Given the description of an element on the screen output the (x, y) to click on. 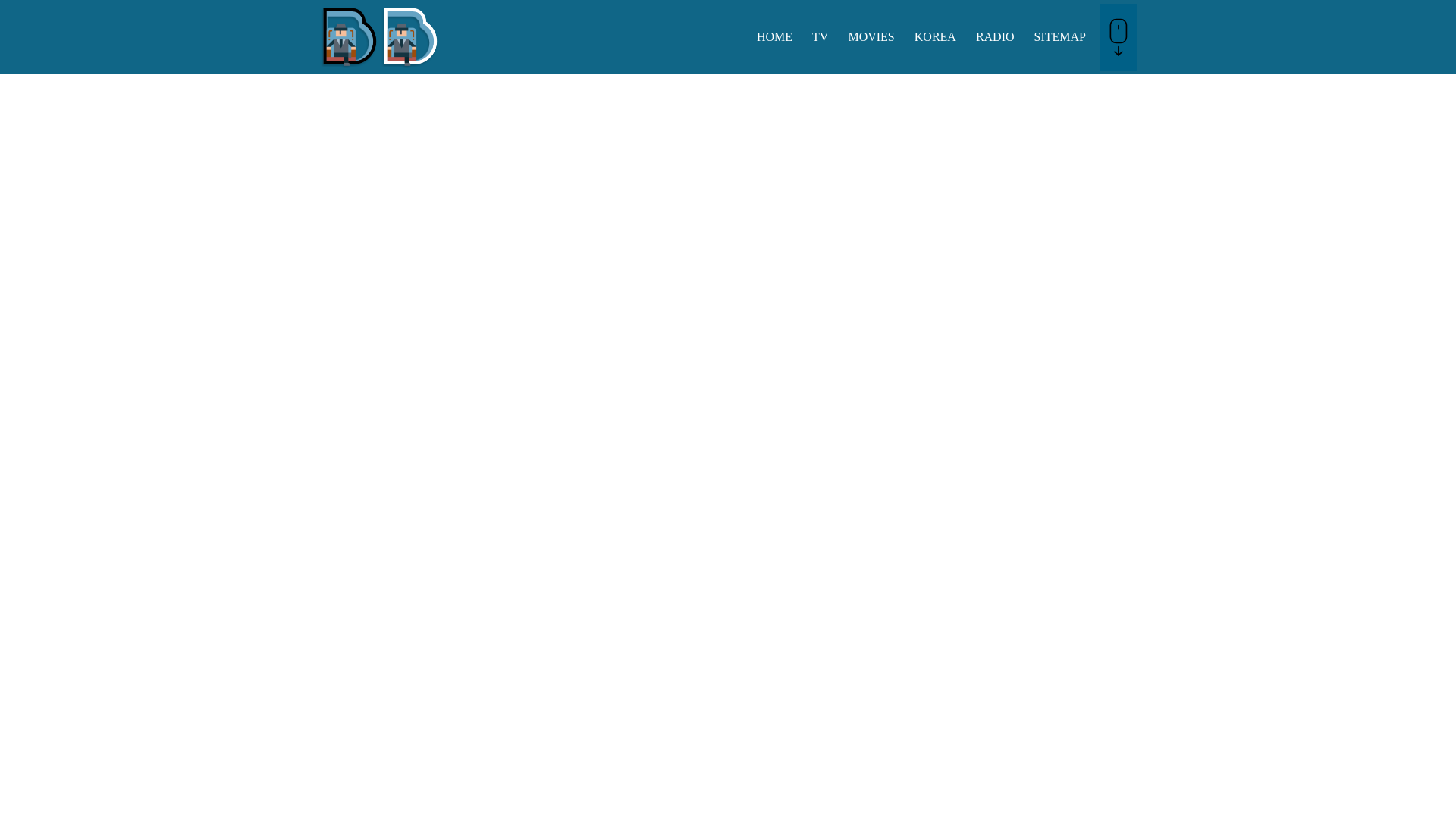
MOVIES (871, 36)
HOME (774, 36)
MAIN PAGE (774, 36)
KOREA STREAMING TV (935, 36)
KOREA (935, 36)
MALAYSIA LIVE TV STREAMING BY BOSS (378, 63)
MALAYSIA TV STREAMING (820, 36)
SITEMAP (1060, 36)
MOVIES MALAYSIA ONLINE TV (871, 36)
TV (820, 36)
RADIO (995, 36)
MALAYSIA RADIO STREAMING (995, 36)
